Given the description of an element on the screen output the (x, y) to click on. 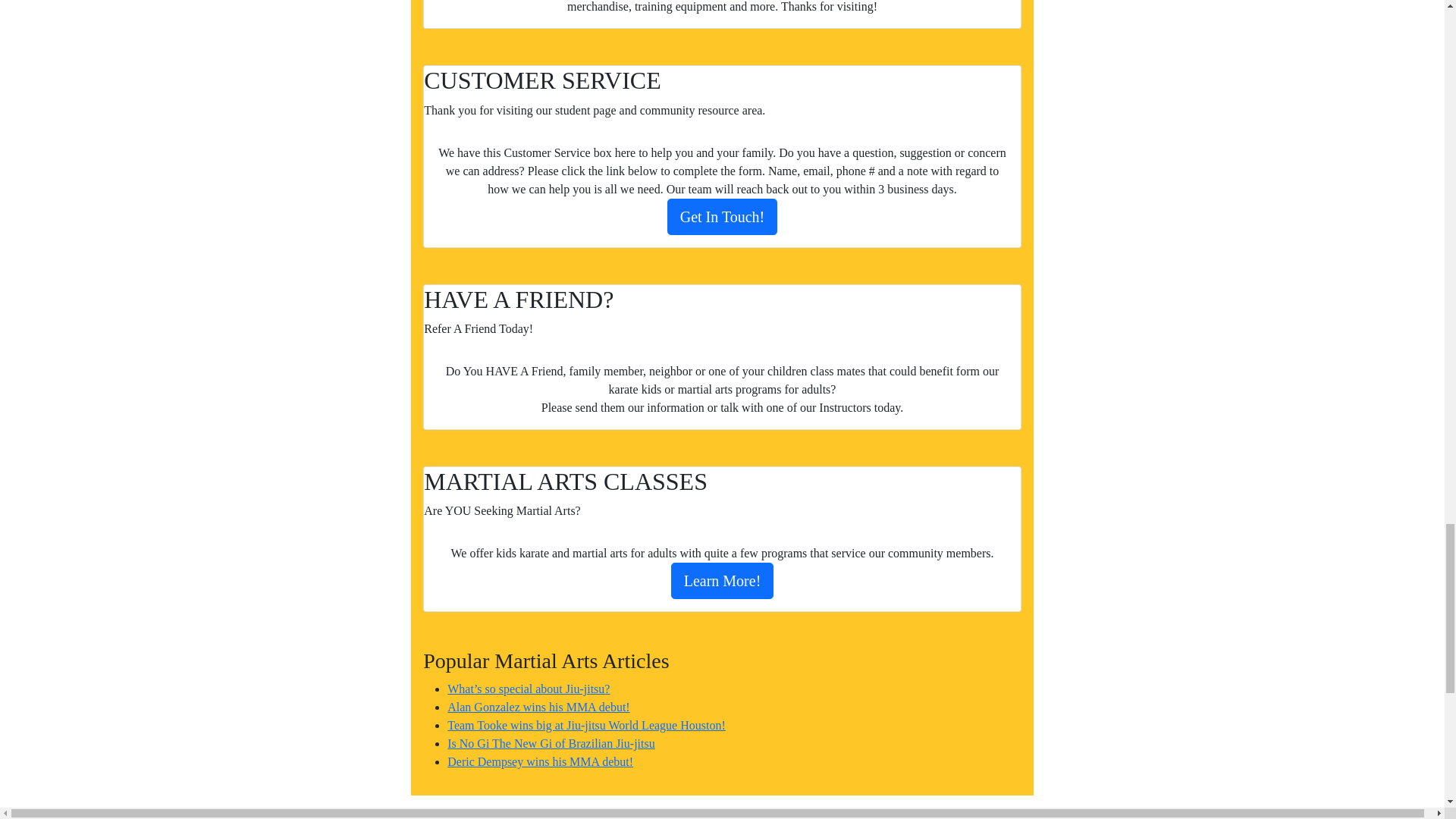
Team Tooke wins big at Jiu-jitsu World League Houston! (585, 725)
Learn More! (722, 580)
Deric Dempsey wins his MMA debut! (539, 761)
Is No Gi The New Gi of Brazilian Jiu-jitsu (549, 743)
Alan Gonzalez wins his MMA debut! (537, 707)
Get In Touch! (721, 217)
